Given the description of an element on the screen output the (x, y) to click on. 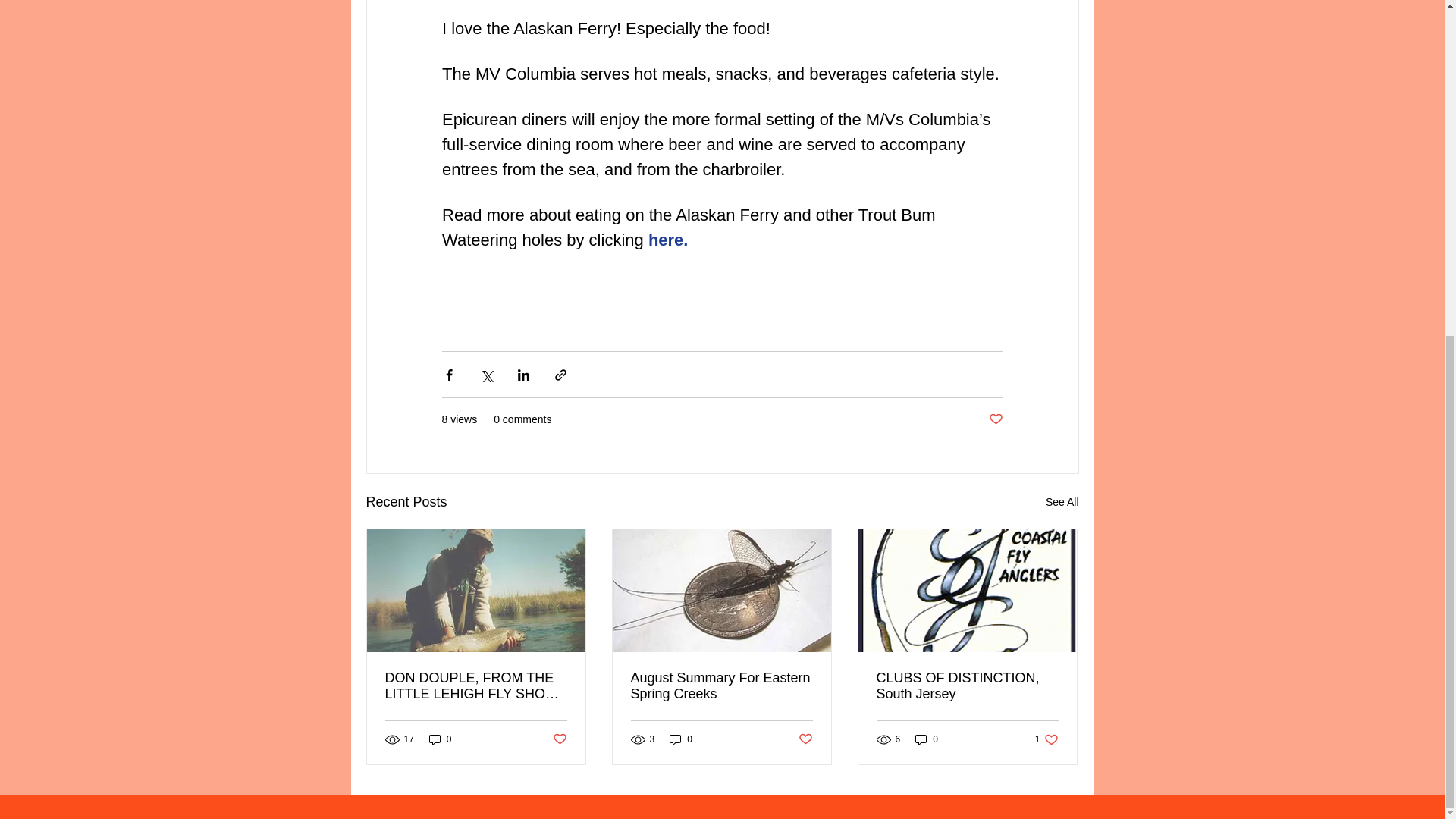
here. (667, 239)
Post not marked as liked (995, 419)
August Summary For Eastern Spring Creeks (721, 685)
See All (1061, 502)
Post not marked as liked (558, 739)
DON DOUPLE, FROM THE LITTLE LEHIGH FLY SHOP ARCHIVES (1046, 739)
CLUBS OF DISTINCTION, South Jersey (476, 685)
0 (967, 685)
0 (926, 739)
